Given the description of an element on the screen output the (x, y) to click on. 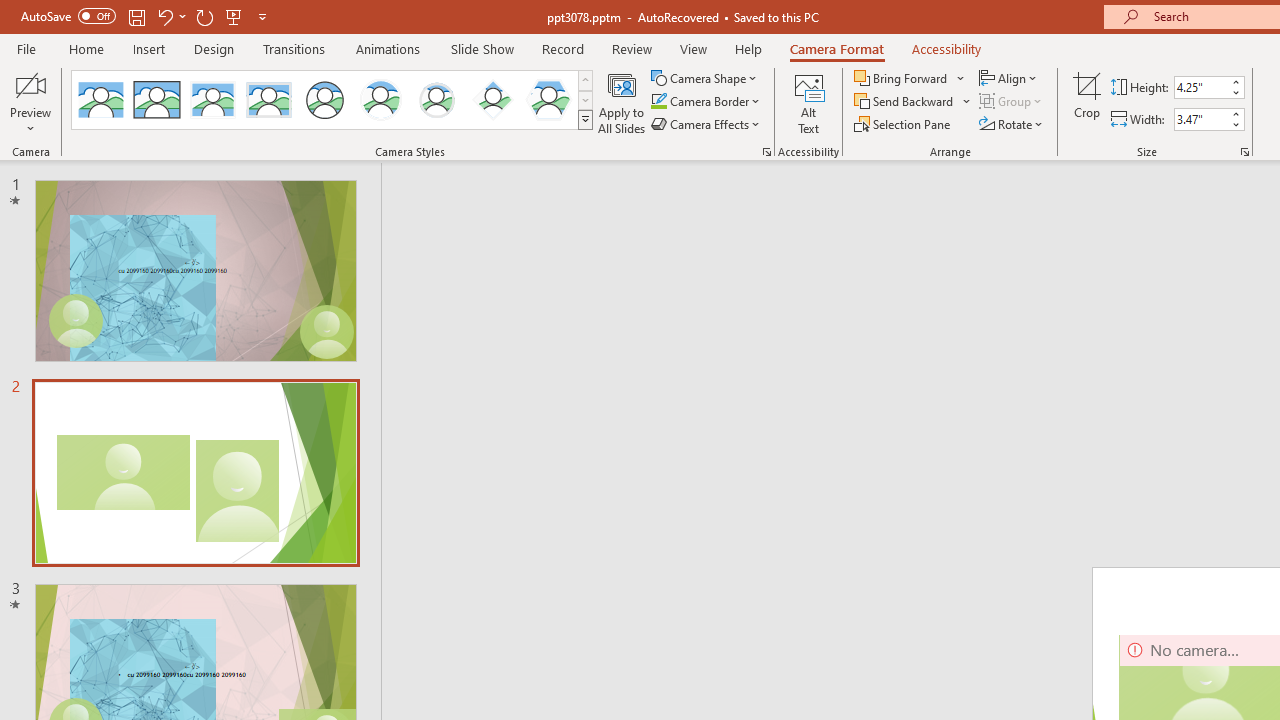
Soft Edge Rectangle (268, 100)
Bring Forward (902, 78)
Align (1009, 78)
Bring Forward (910, 78)
Cameo Height (1201, 87)
Center Shadow Hexagon (548, 100)
Simple Frame Rectangle (157, 100)
